Given the description of an element on the screen output the (x, y) to click on. 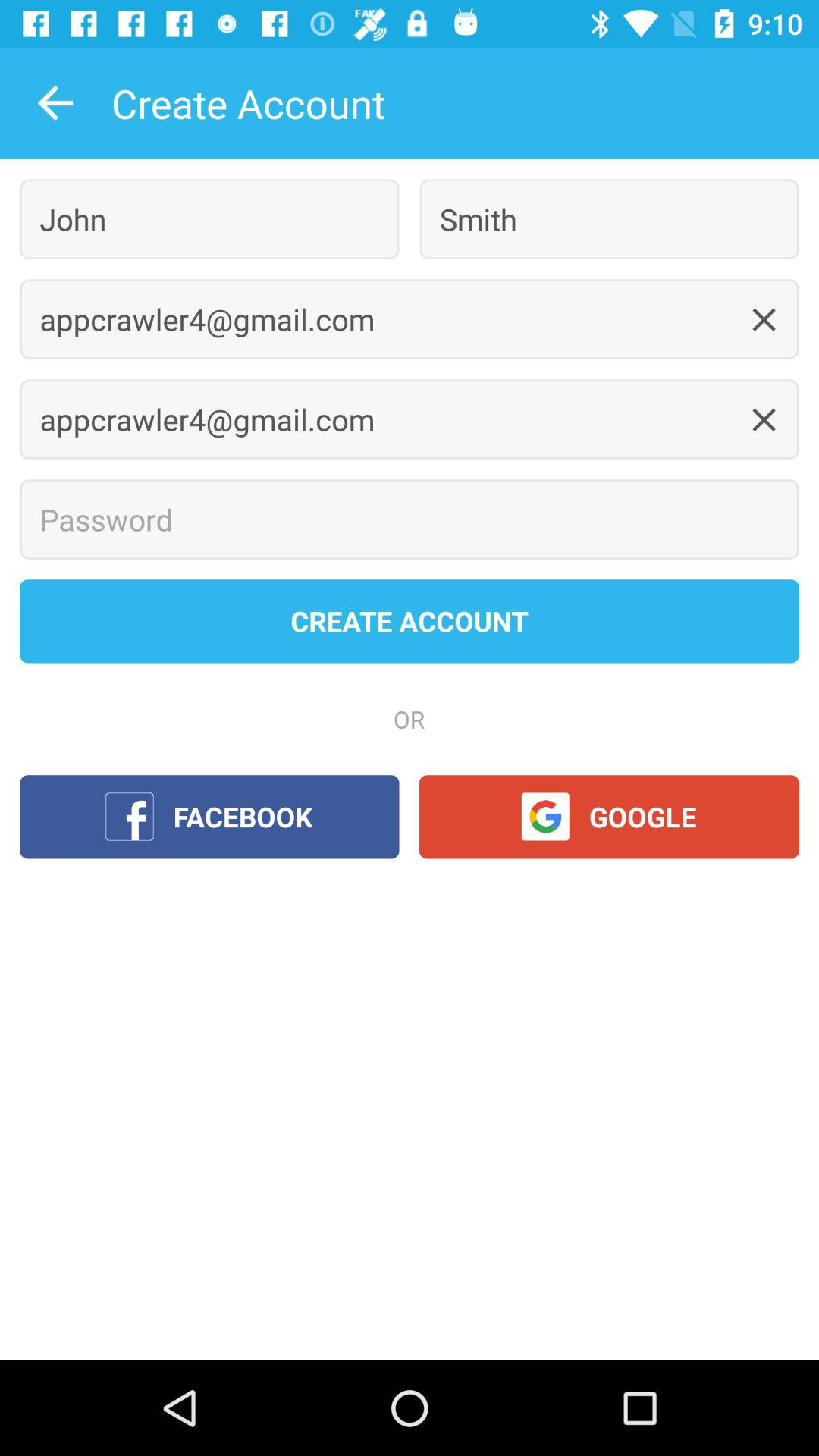
click icon below the create account item (209, 219)
